Given the description of an element on the screen output the (x, y) to click on. 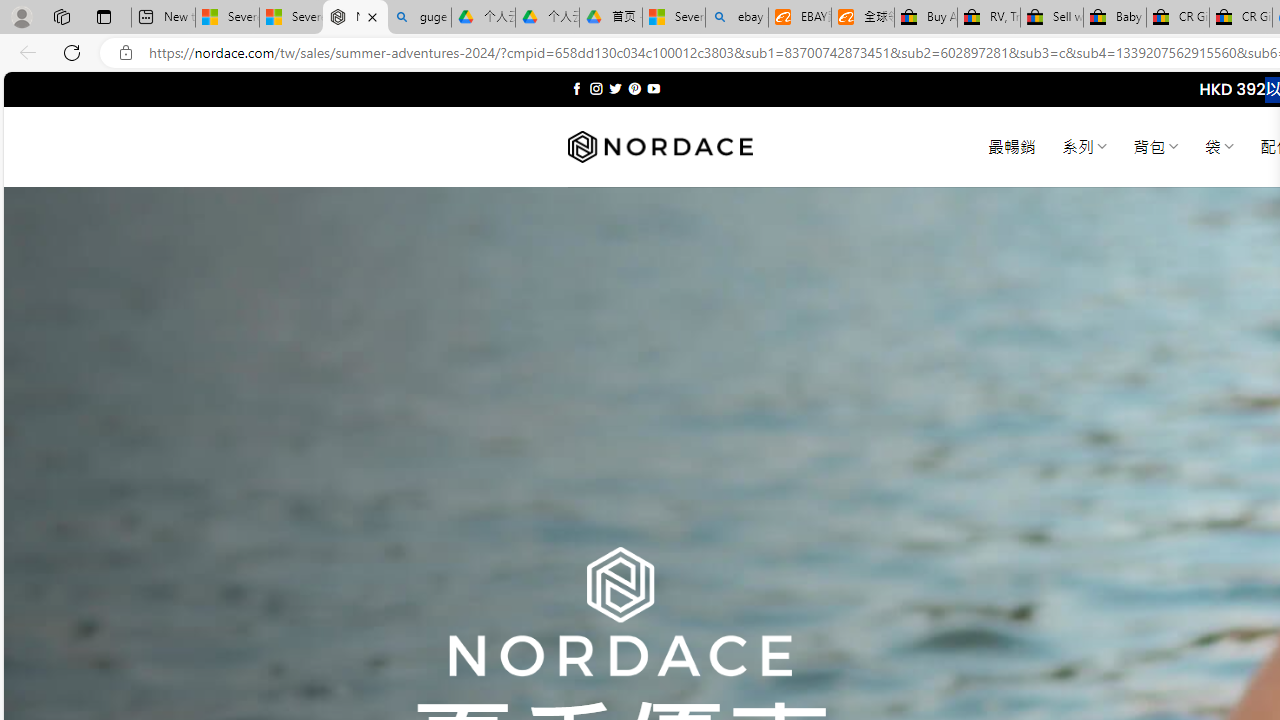
Follow on Pinterest (634, 88)
Follow on Facebook (576, 88)
Follow on YouTube (653, 88)
